Given the description of an element on the screen output the (x, y) to click on. 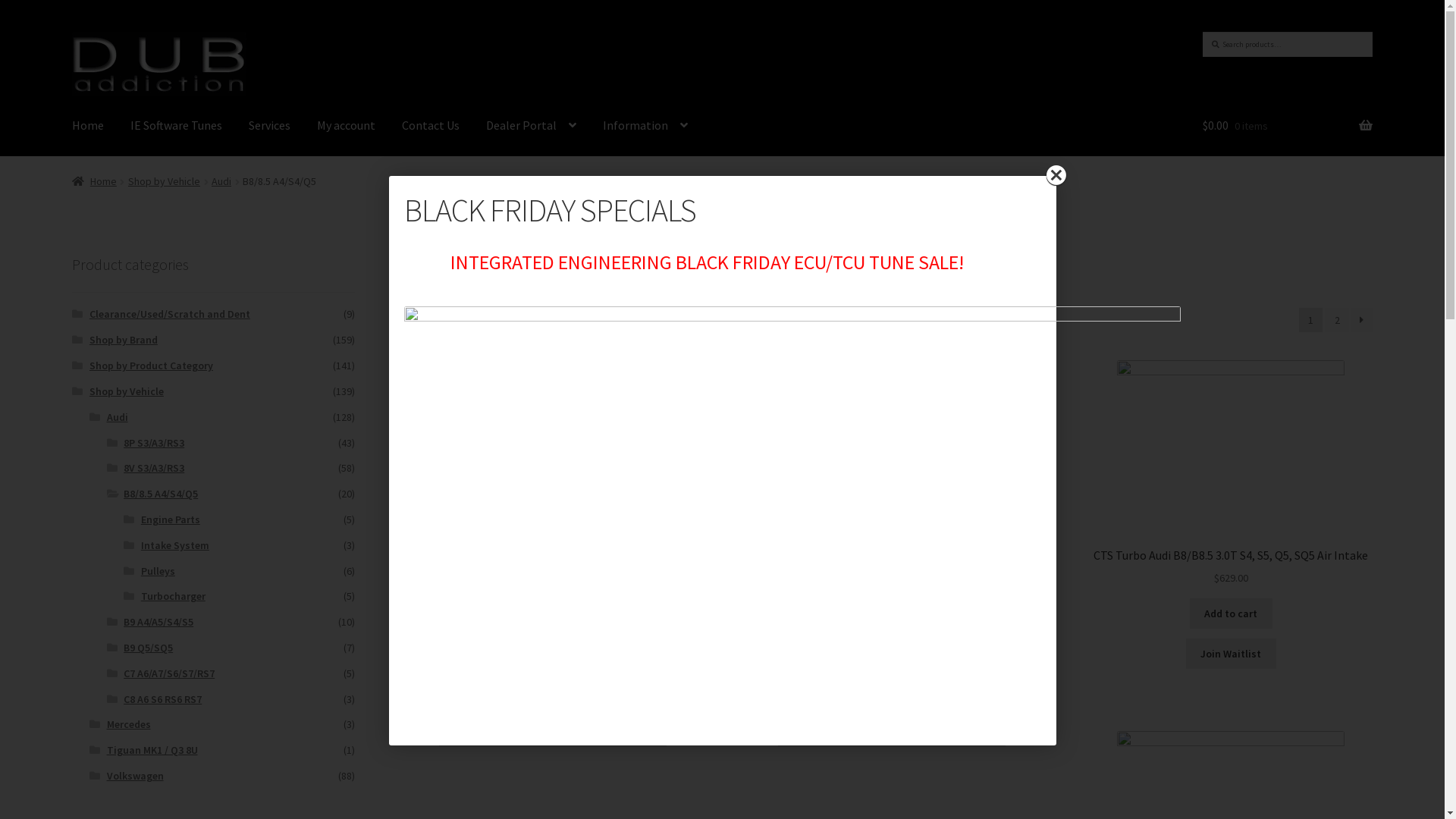
Services Element type: text (269, 125)
B9 Q5/SQ5 Element type: text (147, 647)
Mercedes Element type: text (128, 724)
Add to cart Element type: text (891, 658)
$0.00 0 items Element type: text (1287, 125)
Dealer Portal Element type: text (530, 125)
Shop by Brand Element type: text (123, 339)
Information Element type: text (644, 125)
Add to cart Element type: text (552, 628)
Shop by Product Category Element type: text (151, 365)
Close Element type: text (1056, 175)
B9 A4/A5/S4/S5 Element type: text (158, 621)
Home Element type: text (94, 181)
Shop by Vehicle Element type: text (164, 181)
Volkswagen Element type: text (134, 775)
Add to cart Element type: text (1231, 613)
Audi Element type: text (221, 181)
C8 A6 S6 RS6 RS7 Element type: text (162, 699)
B8/8.5 A4/S4/Q5 Element type: text (160, 493)
My account Element type: text (345, 125)
Turbocharger Element type: text (173, 595)
Intake System Element type: text (175, 545)
Audi Element type: text (117, 416)
Pulleys Element type: text (158, 570)
Engine Parts Element type: text (170, 519)
C7 A6/A7/S6/S7/RS7 Element type: text (168, 673)
2 Element type: text (1336, 319)
Contact Us Element type: text (430, 125)
8V S3/A3/RS3 Element type: text (153, 467)
Shop by Vehicle Element type: text (126, 391)
8P S3/A3/RS3 Element type: text (153, 442)
Home Element type: text (87, 125)
IE Software Tunes Element type: text (176, 125)
Search Element type: text (1201, 31)
Join Waitlist Element type: text (1231, 653)
Clearance/Used/Scratch and Dent Element type: text (169, 313)
Tiguan MK1 / Q3 8U Element type: text (151, 749)
Join Waitlist Element type: text (552, 668)
